Given the description of an element on the screen output the (x, y) to click on. 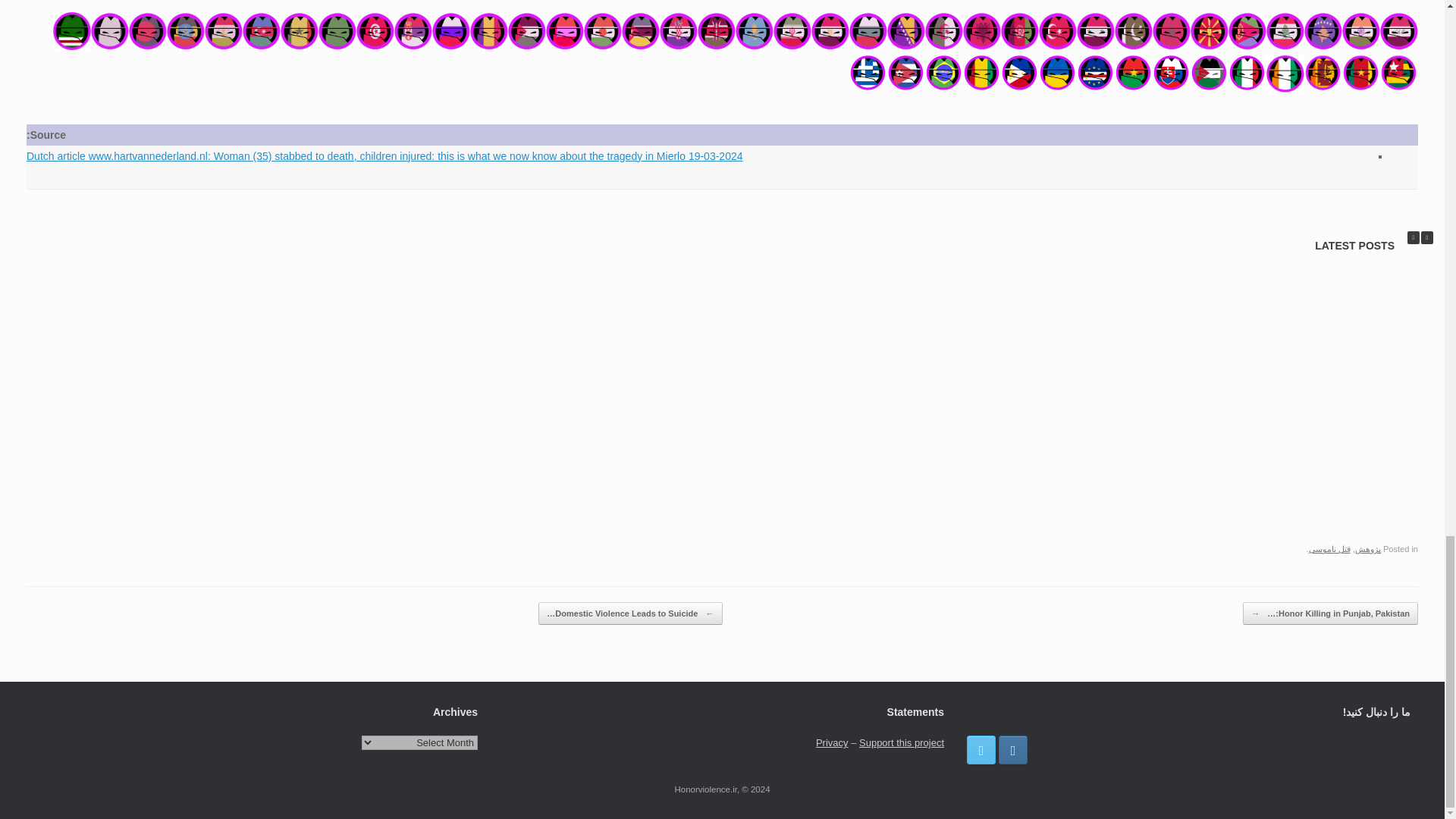
Moroccan perpetrator (1172, 30)
Macedonian perpetrator (1209, 30)
Kosovar perpetrator (1323, 30)
Lebanese perpetrator (1285, 30)
Eritrean perpetrator (1247, 30)
Pakistani perpetrator (1134, 30)
Indian perpetrator (1361, 30)
Syrian perpetrator (1096, 30)
Iraqi perpetrator (1399, 30)
